Given the description of an element on the screen output the (x, y) to click on. 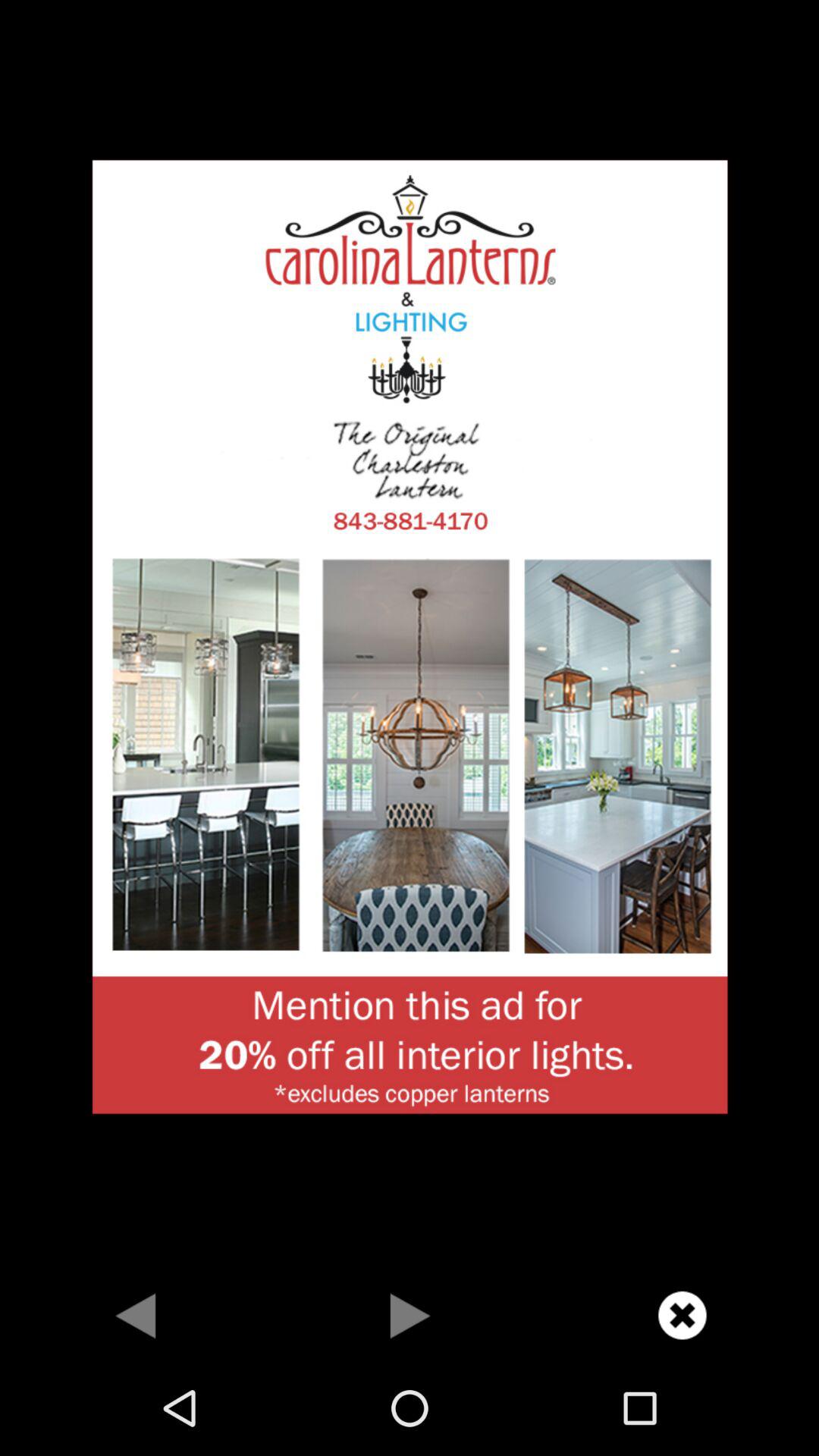
next (409, 1315)
